Given the description of an element on the screen output the (x, y) to click on. 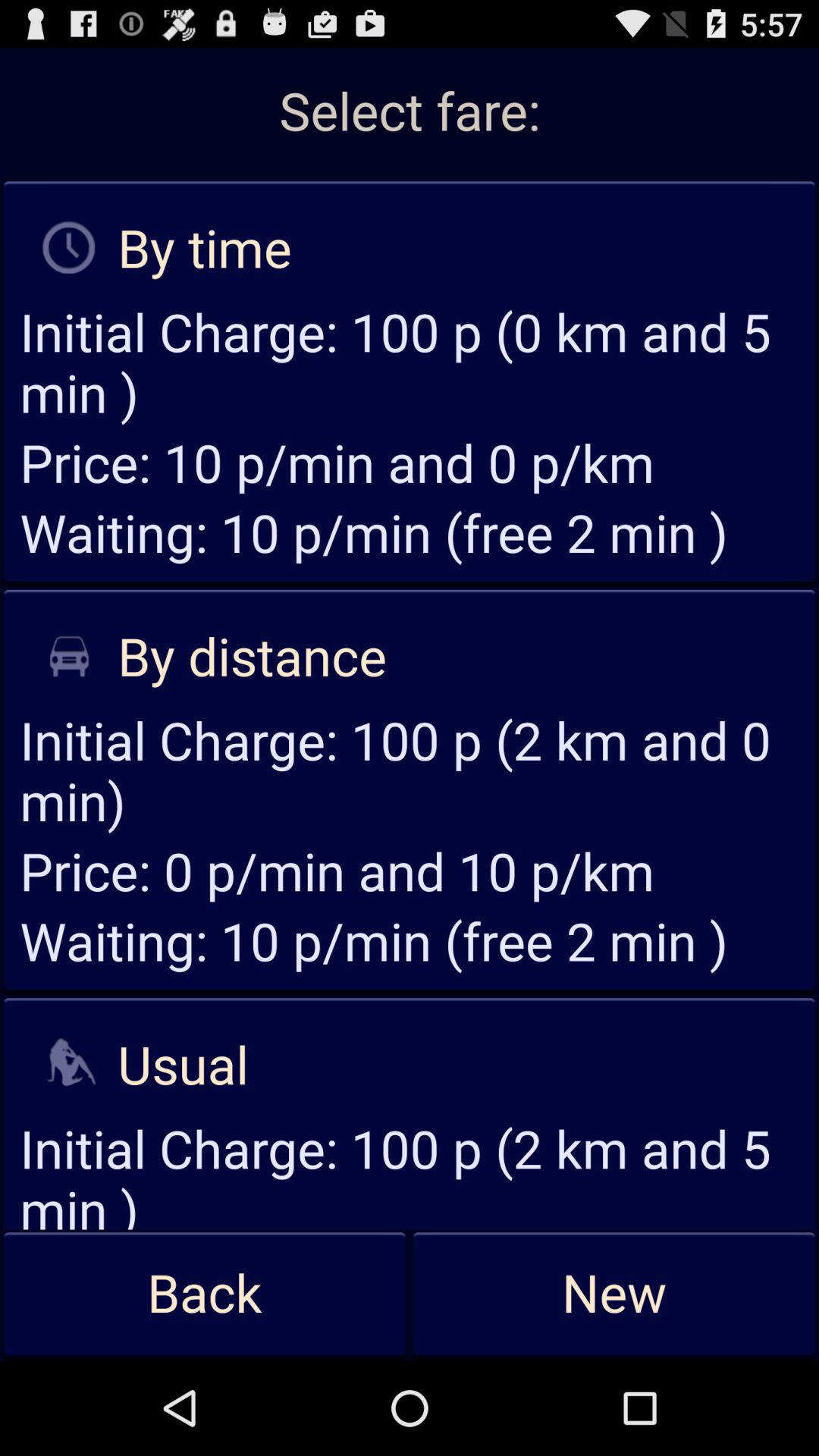
open icon at the bottom left corner (204, 1294)
